Given the description of an element on the screen output the (x, y) to click on. 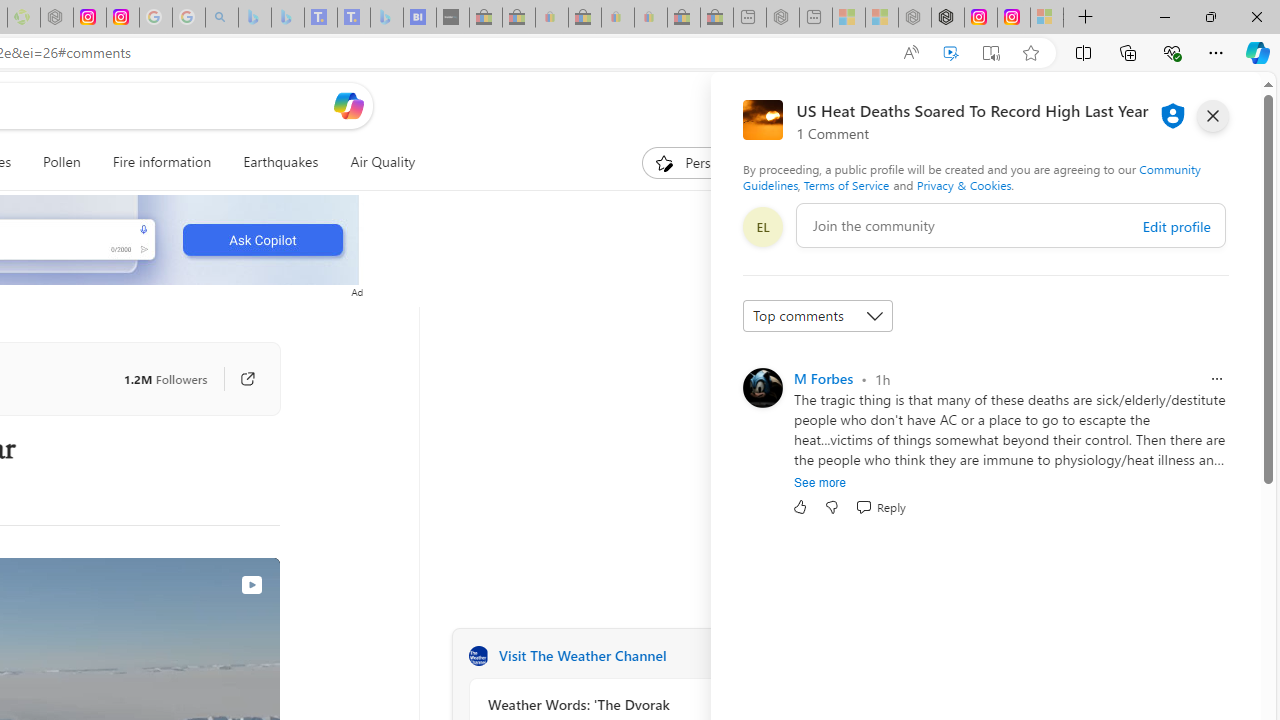
Sort comments by (817, 315)
Terms of Service (846, 184)
Pollen (61, 162)
Community Guidelines (971, 176)
Like (799, 507)
